Given the description of an element on the screen output the (x, y) to click on. 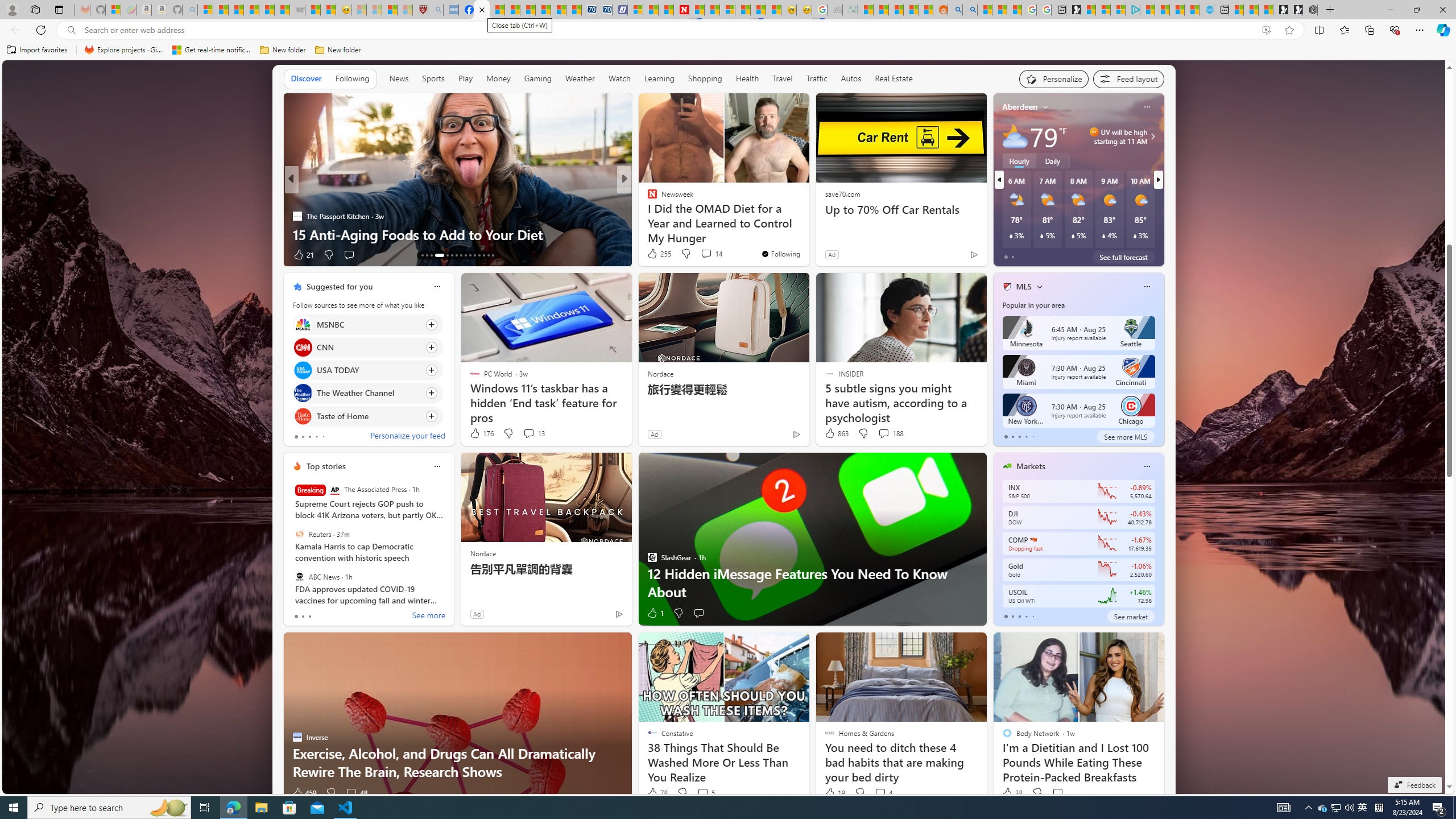
Class: weather-arrow-glyph (1152, 136)
The Weather Channel - MSN (236, 9)
AutomationID: tab-70 (443, 255)
View comments 4 Comment (879, 792)
View comments 14 Comment (705, 253)
MLS (1024, 286)
1 Like (655, 612)
